Given the description of an element on the screen output the (x, y) to click on. 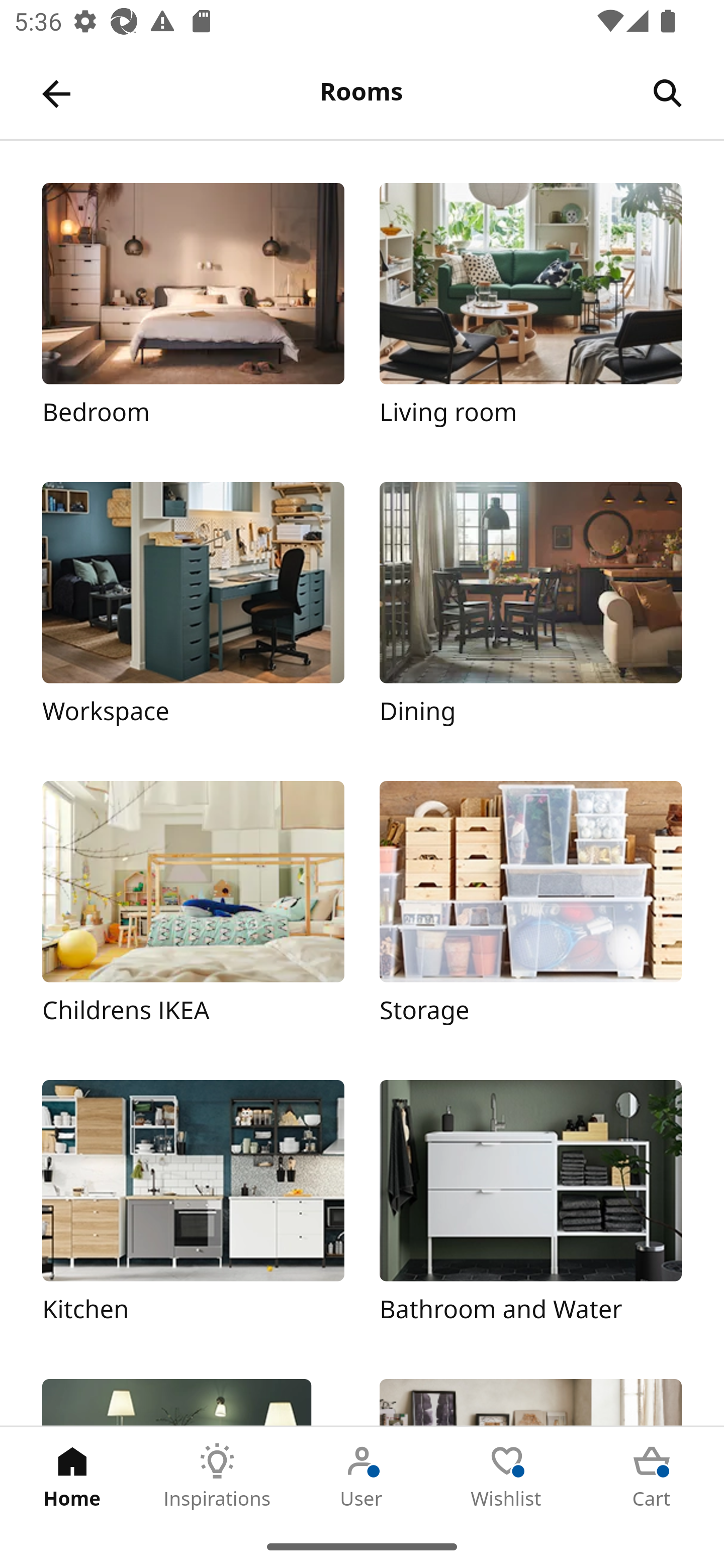
Bedroom (192, 314)
Living room (530, 314)
Workspace (192, 613)
Dining (530, 613)
Childrens IKEA (192, 912)
Storage (530, 912)
Kitchen (192, 1211)
Bathroom and Water (530, 1211)
Home
Tab 1 of 5 (72, 1476)
Inspirations
Tab 2 of 5 (216, 1476)
User
Tab 3 of 5 (361, 1476)
Wishlist
Tab 4 of 5 (506, 1476)
Cart
Tab 5 of 5 (651, 1476)
